Given the description of an element on the screen output the (x, y) to click on. 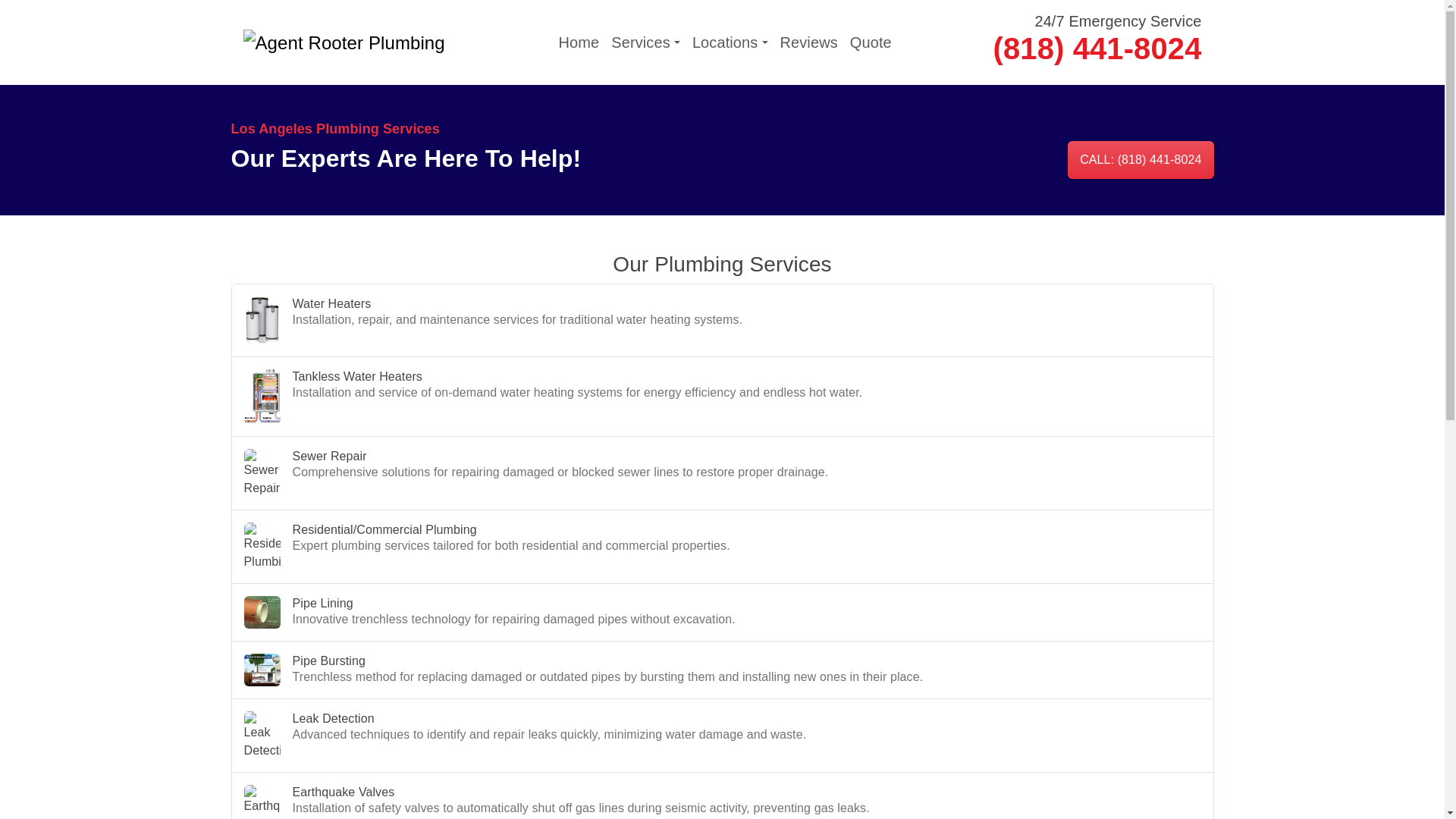
Services (645, 42)
Quote (871, 42)
Locations (729, 42)
Reviews (808, 42)
Home (579, 42)
